Given the description of an element on the screen output the (x, y) to click on. 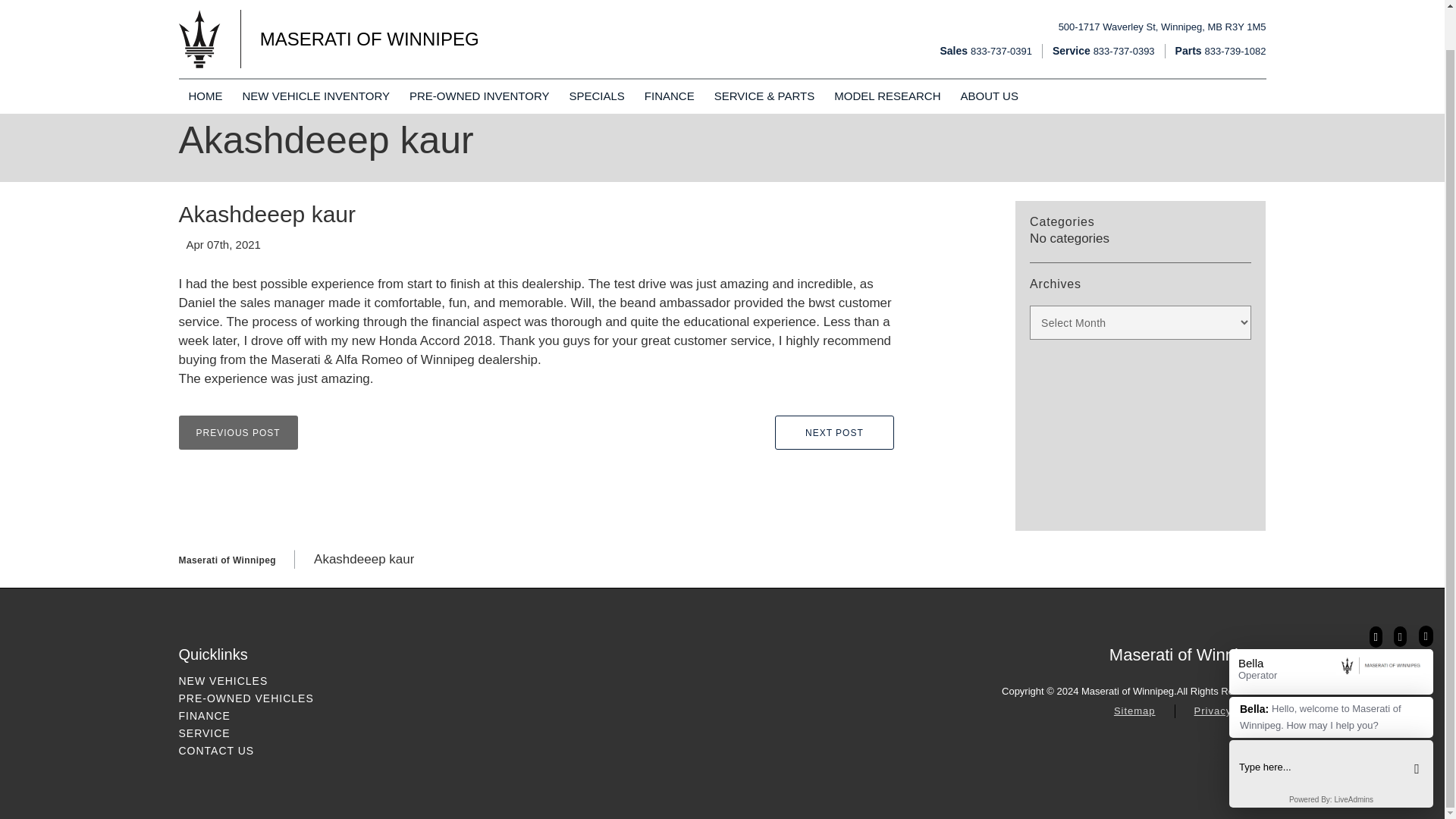
NEW VEHICLE INVENTORY (1162, 10)
Service 833-737-0393 (316, 80)
Powered by EDealer (1103, 34)
Go to Maserati of Winnipeg. (1235, 747)
HOME (227, 560)
SPECIALS (204, 80)
PRE-OWNED INVENTORY (596, 80)
Sales 833-737-0391 (478, 80)
MASERATI OF WINNIPEG (984, 34)
FINANCE (329, 25)
Parts 833-739-1082 (669, 80)
